Given the description of an element on the screen output the (x, y) to click on. 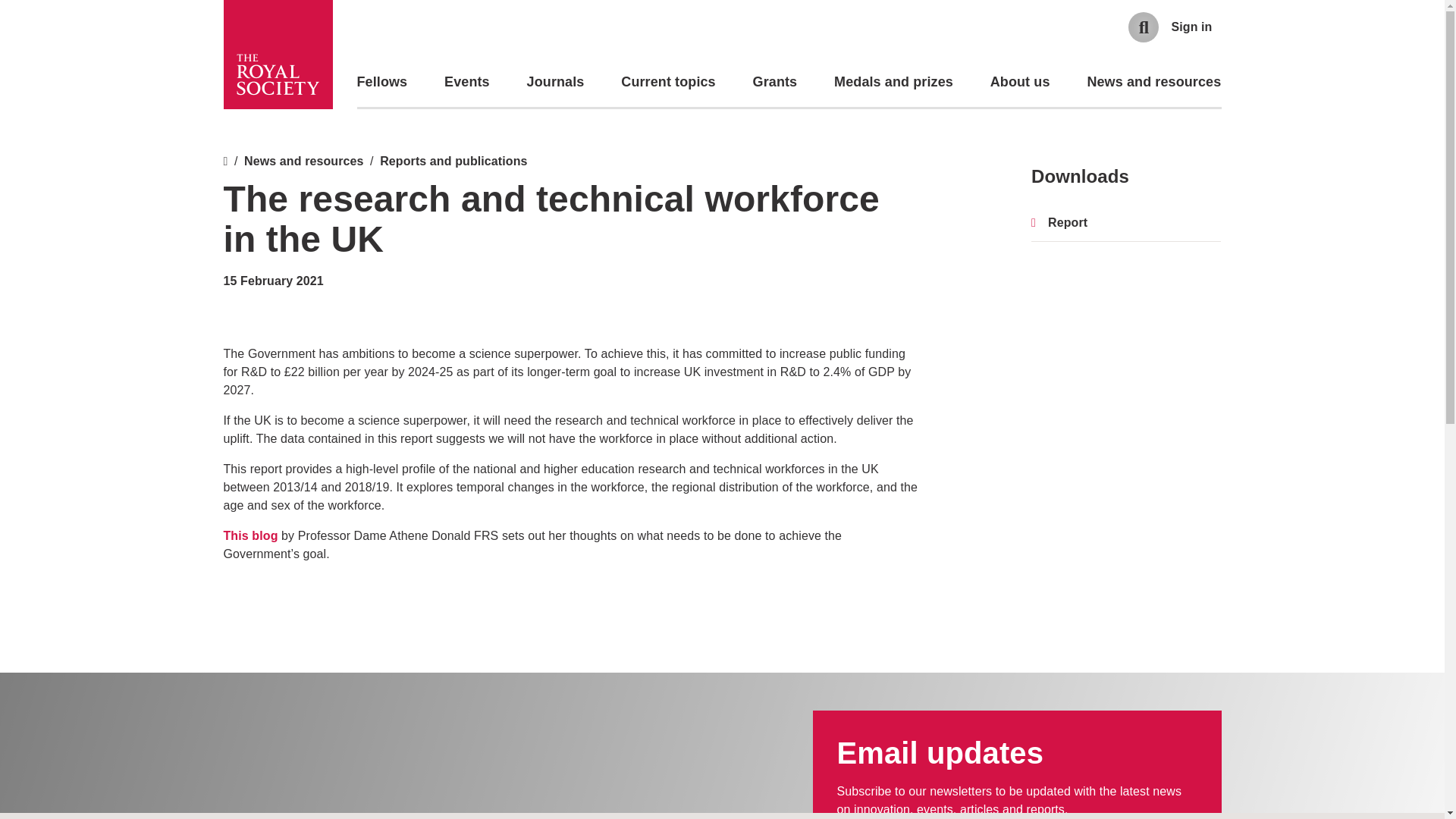
Fellows (381, 81)
Current topics (667, 81)
Journals (556, 81)
